Given the description of an element on the screen output the (x, y) to click on. 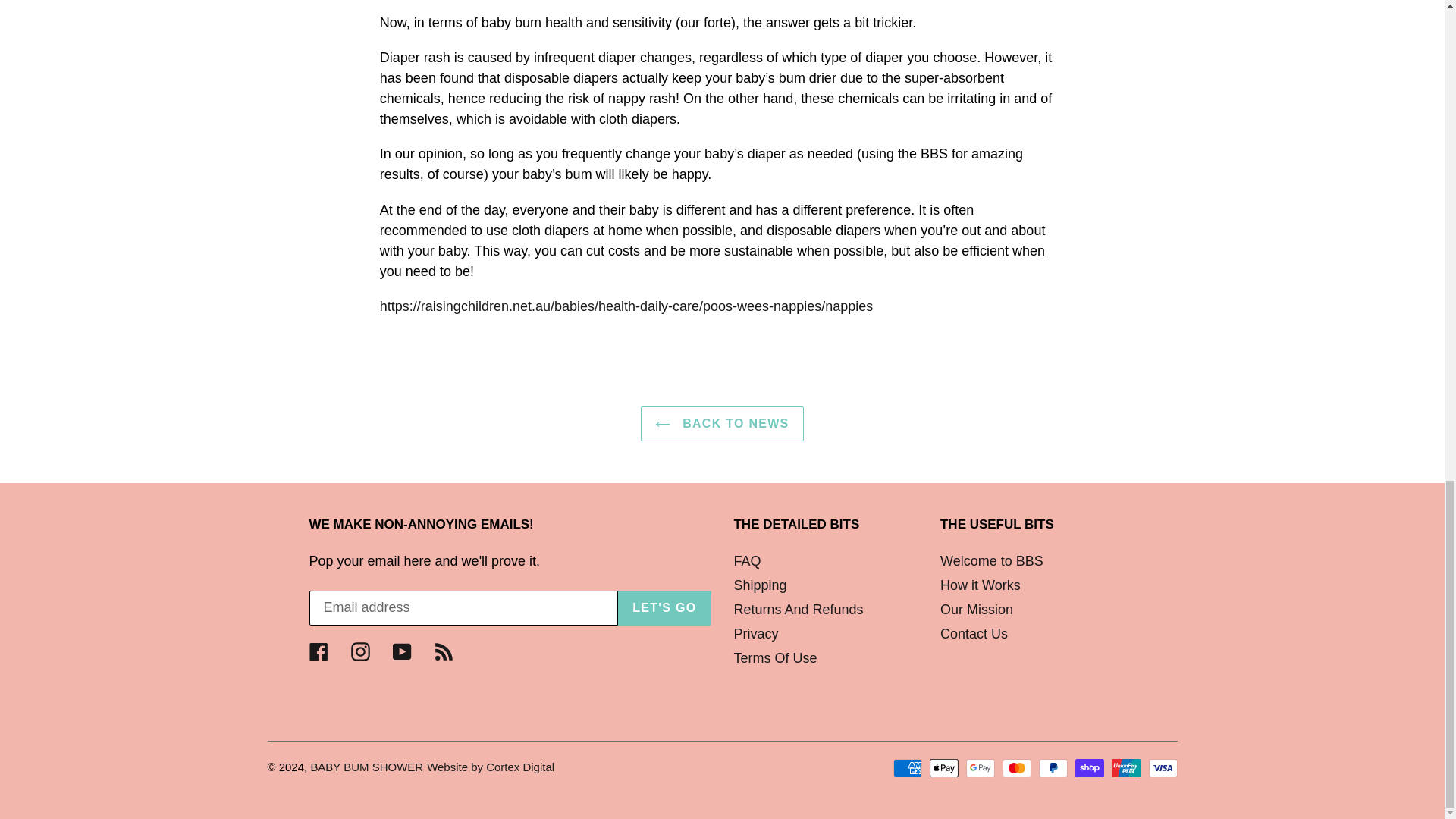
How it Works (980, 585)
Terms Of Use (774, 657)
BACK TO NEWS (721, 423)
Website by Cortex Digital (490, 766)
YouTube (402, 650)
FAQ (747, 560)
Facebook (318, 650)
BABY BUM SHOWER (366, 766)
Contact Us (973, 633)
LET'S GO (663, 607)
